Given the description of an element on the screen output the (x, y) to click on. 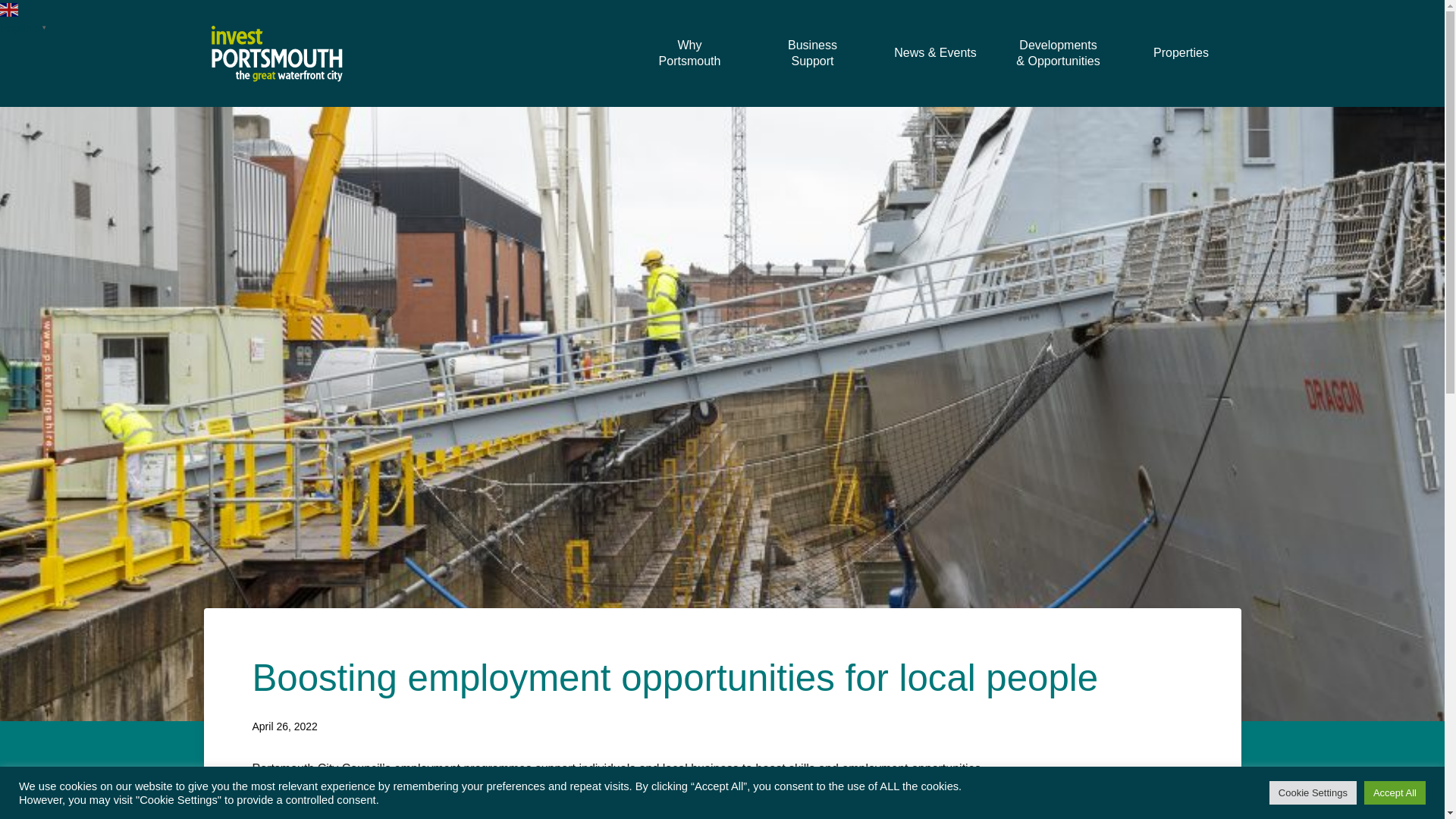
Properties (1180, 52)
Why Portsmouth (689, 52)
Business Support (812, 52)
